Given the description of an element on the screen output the (x, y) to click on. 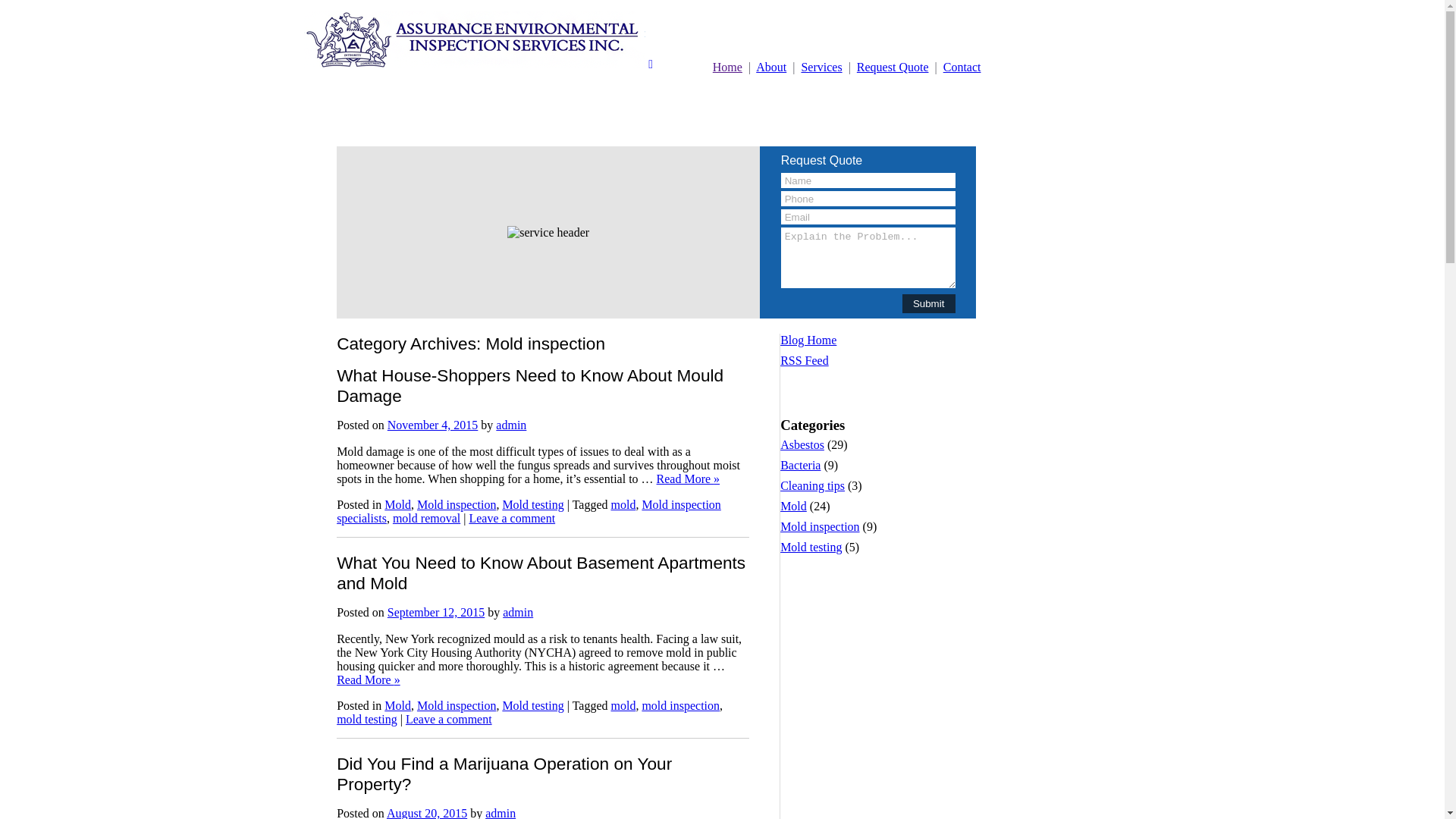
Mold Element type: text (397, 705)
Services Element type: text (820, 66)
Phone Element type: text (868, 198)
Did You Find a Marijuana Operation on Your Property? Element type: text (503, 773)
Bacteria Element type: text (800, 464)
admin Element type: text (517, 611)
November 4, 2015 Element type: text (432, 424)
Leave a comment Element type: text (511, 517)
Mold inspection specialists Element type: text (528, 511)
What You Need to Know About Basement Apartments and Mold Element type: text (540, 572)
mold inspection Element type: text (680, 705)
https://aloseo.com/dich-vu-pbn-backlink/ Element type: text (873, 387)
mold Element type: text (623, 705)
Mold inspection Element type: text (819, 526)
Mold inspection Element type: text (456, 705)
Asbestos Element type: text (802, 444)
mold Element type: text (623, 504)
Mold testing Element type: text (532, 705)
Leave a comment Element type: text (448, 718)
Mold testing Element type: text (810, 546)
Mold Element type: text (397, 504)
Email Element type: text (868, 216)
Contact Element type: text (962, 66)
RSS Feed Element type: text (804, 360)
Mold Element type: text (793, 505)
Home Element type: text (727, 66)
September 12, 2015 Element type: text (435, 611)
Explain the Problem... Element type: text (868, 257)
Name Element type: text (868, 180)
admin Element type: text (510, 424)
Blog Home Element type: text (808, 339)
PingBacklinks Element type: text (901, 394)
Submit Element type: text (928, 303)
Request Quote Element type: text (892, 66)
What House-Shoppers Need to Know About Mould Damage Element type: text (529, 385)
mold removal Element type: text (426, 517)
mold testing Element type: text (366, 718)
Mold testing Element type: text (532, 504)
BacklinkBoss Element type: text (813, 380)
Mold inspection Element type: text (456, 504)
Cleaning tips Element type: text (812, 485)
About Element type: text (771, 66)
